Given the description of an element on the screen output the (x, y) to click on. 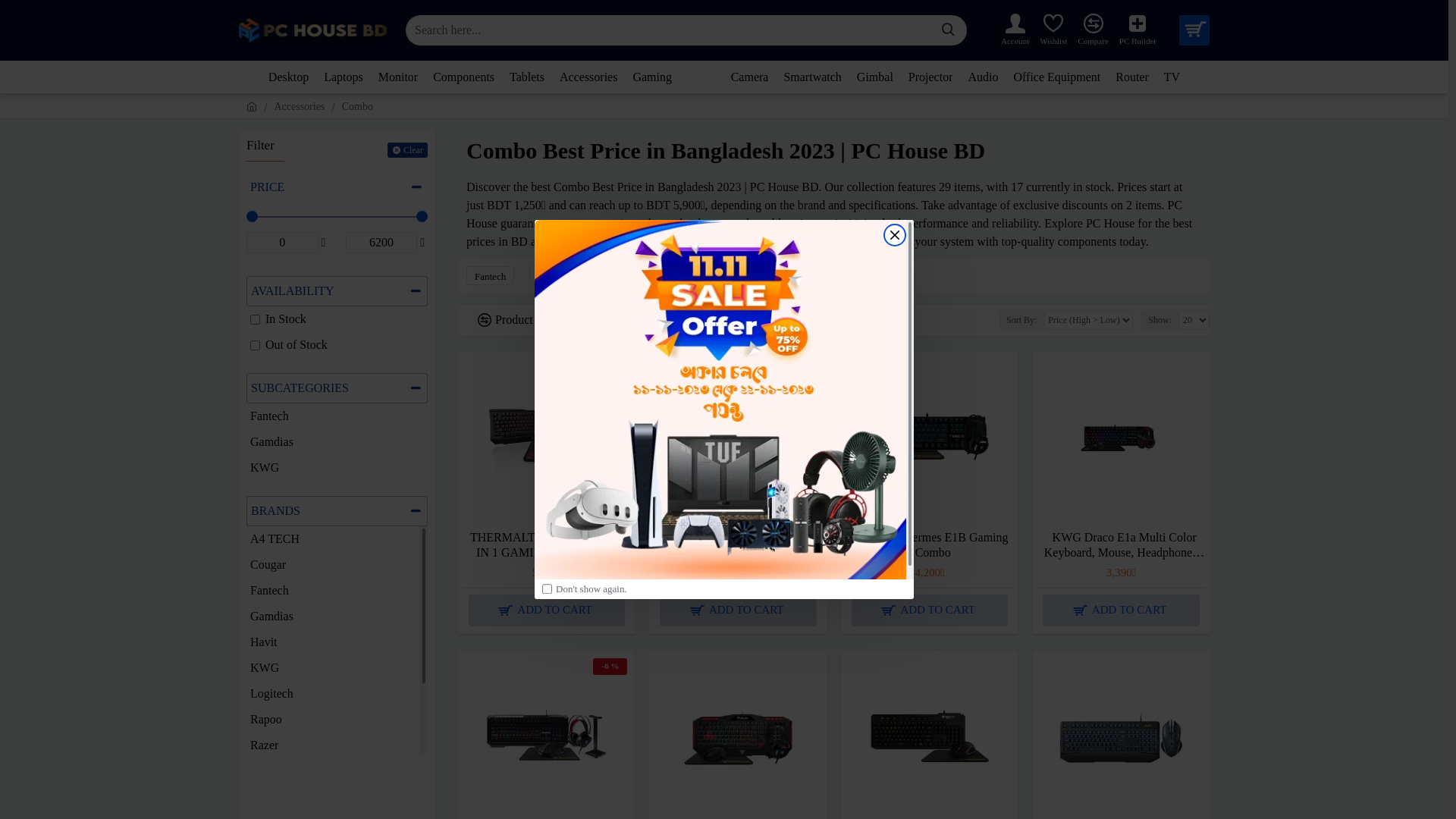
Gamdias Ares P2 3 in 1 Keyboard Mouse and Mouse Pad Combo Element type: hover (929, 738)
Projector Element type: text (930, 76)
ADD TO CART Element type: text (929, 610)
AVAILABILITY Element type: text (336, 290)
Gamdias Hermes E1B Gaming Combo Element type: text (932, 545)
PC Builder Element type: text (1137, 30)
Laptops Element type: text (343, 76)
Gimbal Element type: text (874, 76)
SUBCATEGORIES Element type: text (336, 387)
Gamdias Element type: text (554, 275)
Gamdias POSEIDON M2 4 in 1 Gaming Combo Element type: hover (737, 738)
Wishlist Element type: text (1052, 30)
Router Element type: text (1131, 76)
Camera Element type: text (749, 76)
Office Equipment Element type: text (1056, 76)
ADD TO CART Element type: text (737, 610)
Gamdias Hermes E1B Gaming Combo Element type: hover (929, 439)
PRICE Element type: text (336, 186)
Compare Element type: text (1092, 30)
BRANDS Element type: text (336, 510)
RAPOO VPRO V120S GAMING KEYBOARD & MOUSE COMBO Element type: hover (1120, 738)
Account Element type: text (1014, 30)
Accessories Element type: text (588, 76)
Combo Element type: text (357, 106)
KWG Element type: text (616, 275)
Clear Element type: text (407, 149)
ADD TO CART Element type: text (1120, 610)
ADD TO CART Element type: text (546, 610)
Gamdias HERMES P1B RGB Mechanical 3 in 1 Gaming Combo Element type: hover (737, 439)
Tablets Element type: text (527, 76)
Gamdias POSEIDON M3 5-In-1 Gaming Combo Element type: hover (546, 738)
Gaming Element type: text (651, 76)
Components Element type: text (463, 76)
Accessories Element type: text (298, 106)
Gamdias HERMES P1B RGB Mechanical 3 in 1 Gaming Combo Element type: text (740, 545)
PC House Element type: hover (312, 30)
Smartwatch Element type: text (811, 76)
Audio Element type: text (982, 76)
TV Element type: text (1171, 76)
Product Compare Element type: text (523, 320)
Desktop Element type: text (288, 76)
Fantech Element type: text (490, 275)
Monitor Element type: text (397, 76)
